Given the description of an element on the screen output the (x, y) to click on. 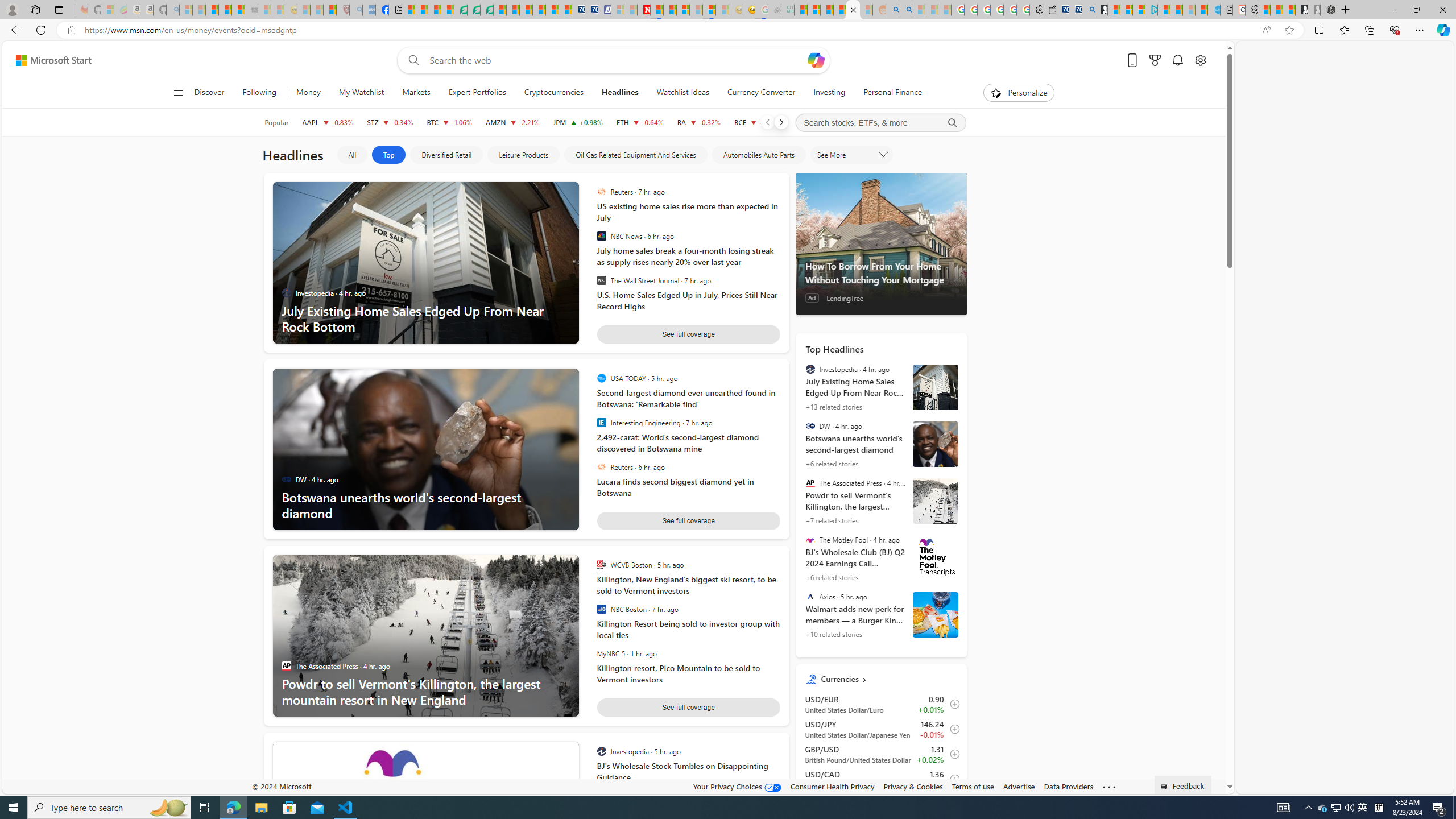
Notifications (1177, 60)
Recipes - MSN - Sleeping (303, 9)
Search stocks, ETFs, & more (880, 122)
Privacy & Cookies (913, 785)
Following (258, 92)
Previous (767, 122)
Advertise (1019, 785)
Utah sues federal government - Search (905, 9)
Botswana unearths world's second-largest diamond - DW (881, 444)
Play Free Online Games | Games from Microsoft Start (1301, 9)
NBC News (600, 235)
